Given the description of an element on the screen output the (x, y) to click on. 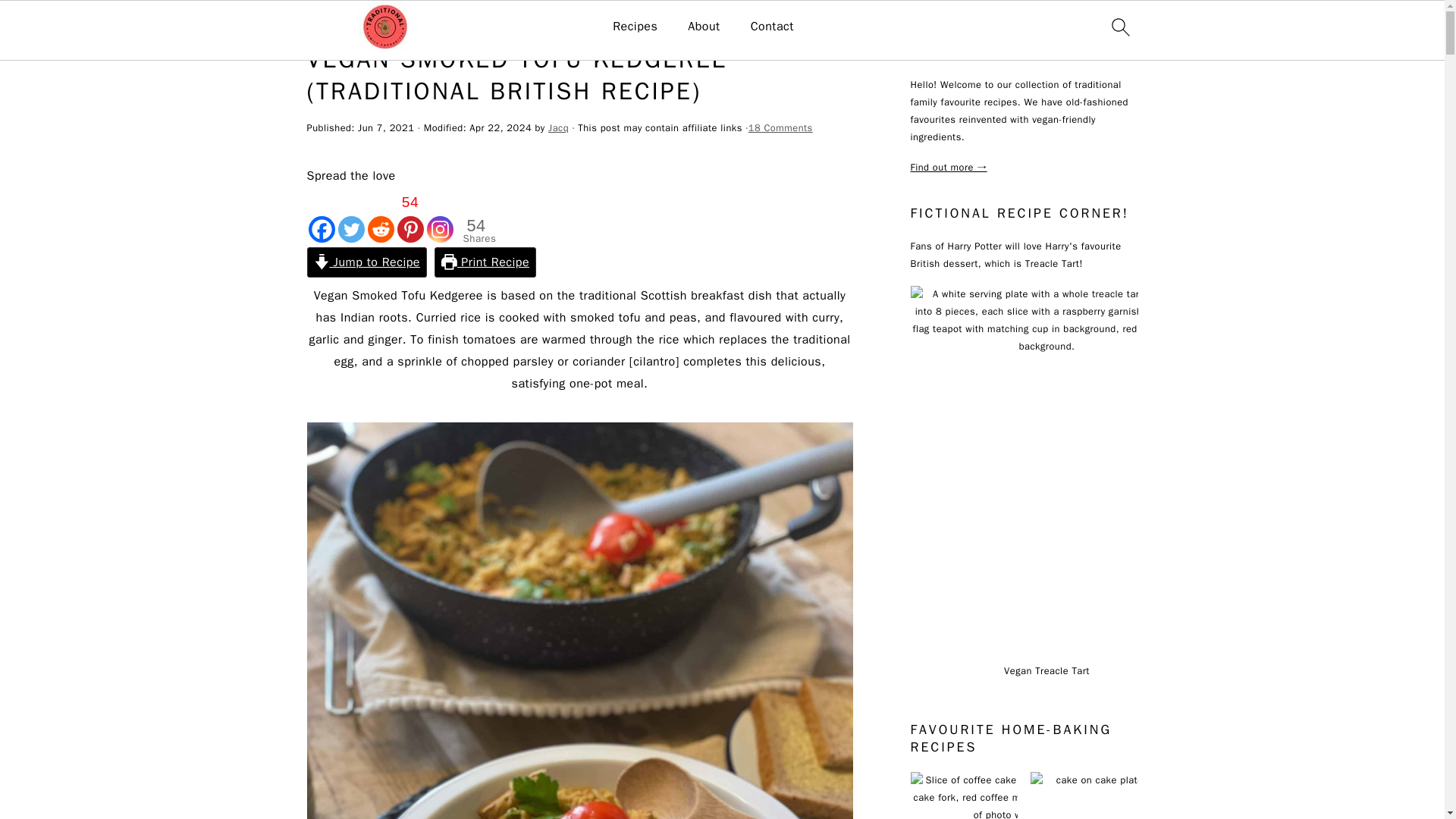
Home (319, 23)
search icon (1119, 26)
18 Comments (780, 128)
About (703, 26)
Jump to Recipe (365, 262)
Jacq (558, 128)
Dinner (358, 23)
Contact (772, 26)
Print Recipe (484, 262)
